Given the description of an element on the screen output the (x, y) to click on. 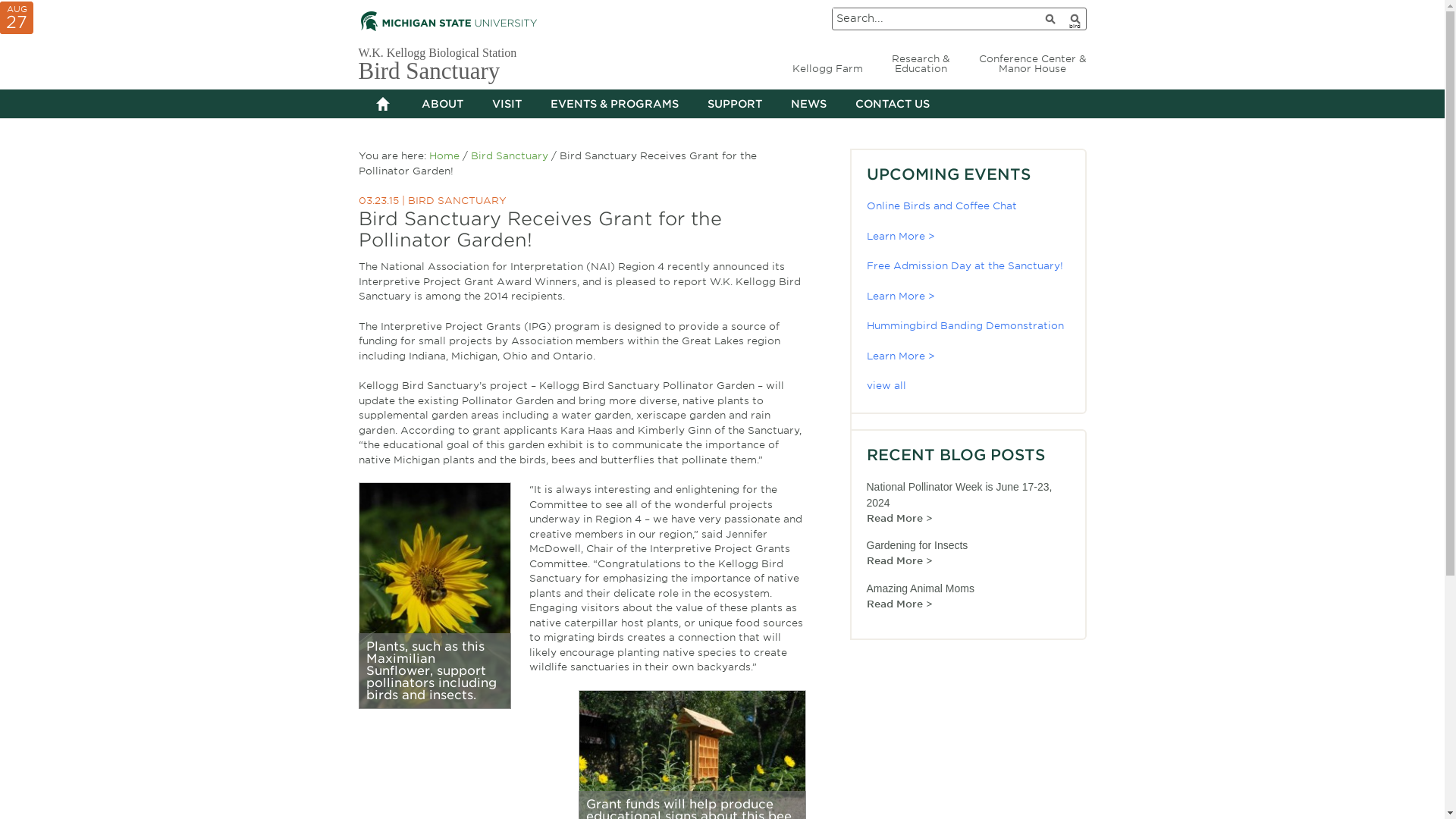
BIRD SANCTUARY (456, 200)
National Pollinator Week is June 17-23, 2024 (958, 494)
Bird Sanctuary (508, 155)
Amazing Animal Moms (920, 588)
NEWS (808, 103)
SUPPORT (734, 103)
Bird Sanctuary (428, 70)
Gardening for Insects (917, 544)
Search MSU (1050, 18)
view all (885, 385)
Kellogg Farm (827, 68)
Home (444, 155)
Search Sanctuary (1074, 18)
Bird (1074, 18)
VISIT (506, 103)
